Given the description of an element on the screen output the (x, y) to click on. 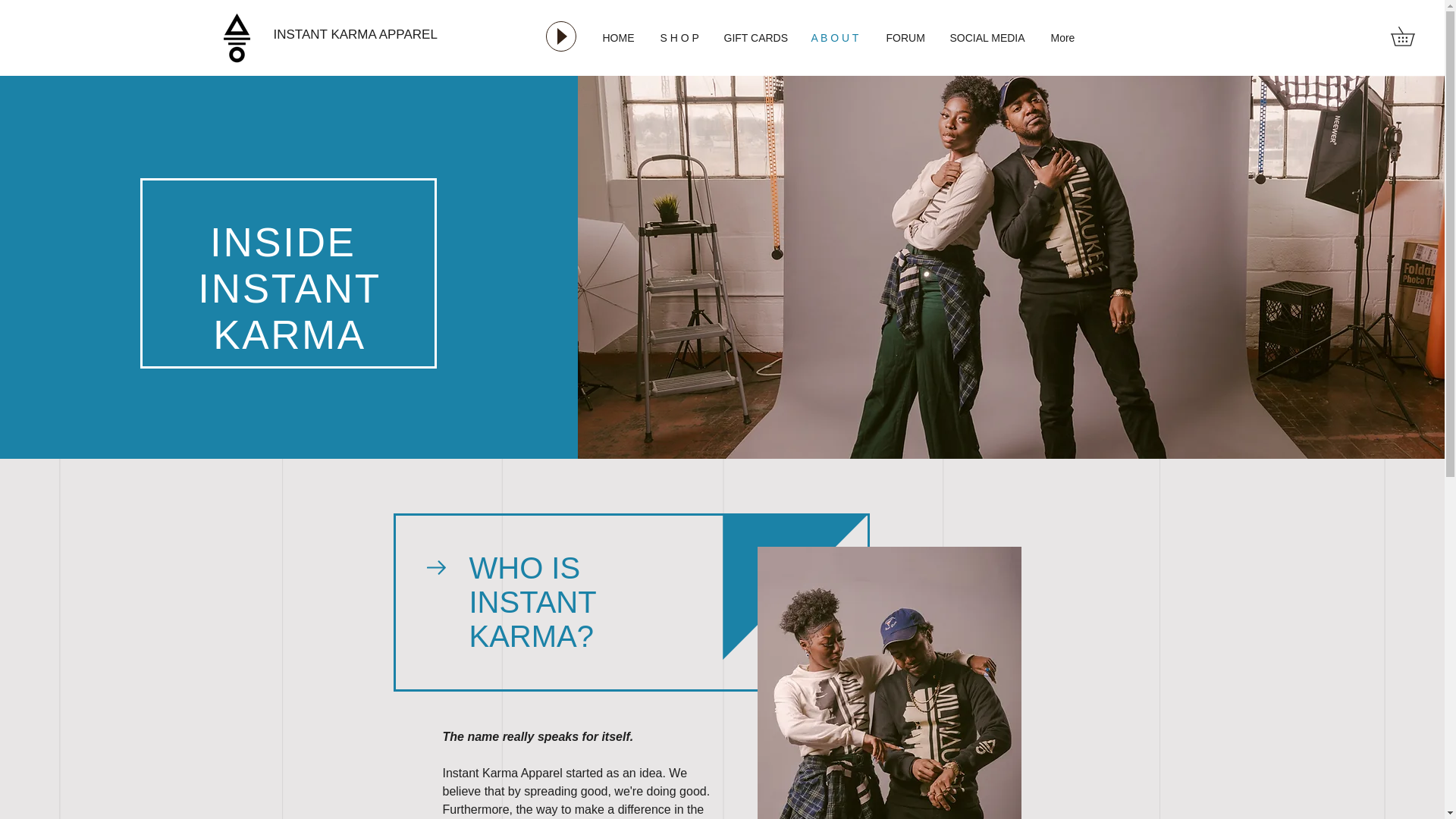
A B O U T (837, 37)
HOME (620, 37)
INSTANT KARMA APPAREL (413, 34)
S H O P (681, 37)
FORUM (907, 37)
GIFT CARDS (756, 37)
SOCIAL MEDIA (989, 37)
